Given the description of an element on the screen output the (x, y) to click on. 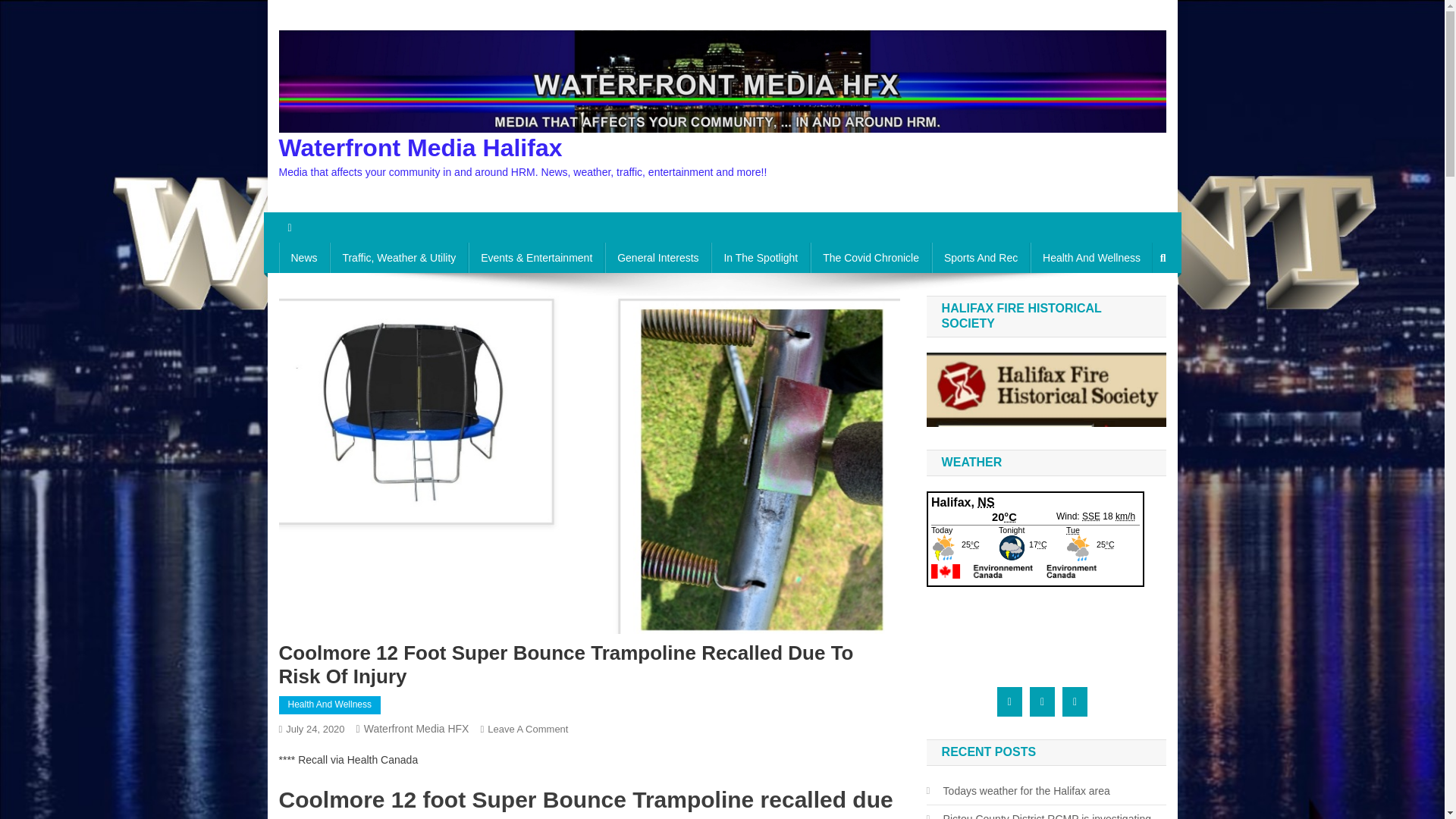
General Interests (657, 257)
Waterfront Media HFX (416, 728)
News (304, 257)
Environment Canada Weather (1035, 574)
Waterfront Media Halifax (420, 146)
In The Spotlight (760, 257)
July 24, 2020 (314, 728)
Health And Wellness (330, 705)
Sports And Rec (980, 257)
Health And Wellness (1091, 257)
The Covid Chronicle (870, 257)
Search (1133, 308)
